Given the description of an element on the screen output the (x, y) to click on. 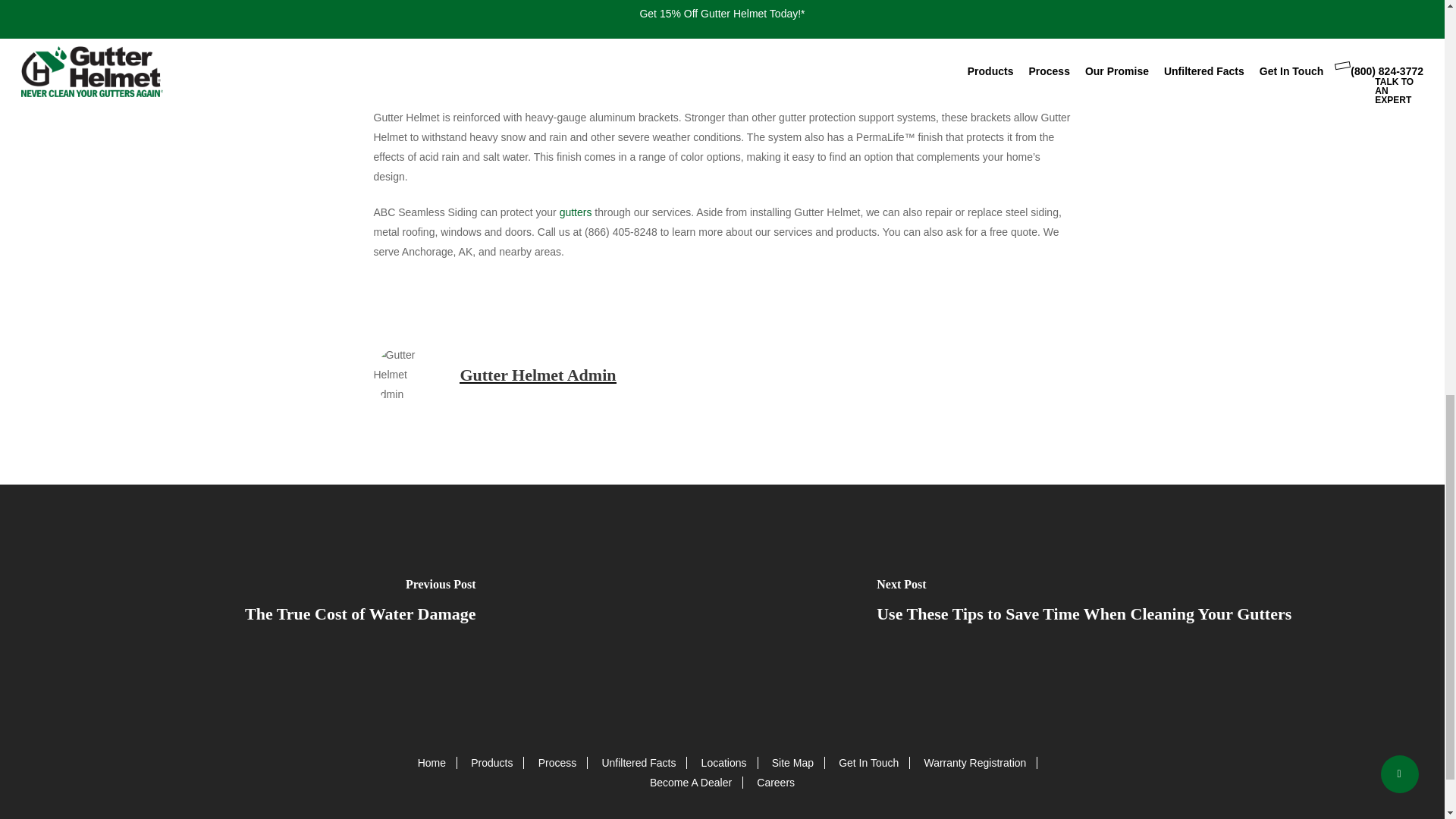
Process (557, 762)
Careers (775, 782)
Unfiltered Facts (638, 762)
Locations (723, 762)
gutters (575, 212)
Become A Dealer (690, 782)
Home (431, 762)
Warranty Registration (974, 762)
Site Map (792, 762)
Get In Touch (868, 762)
